Given the description of an element on the screen output the (x, y) to click on. 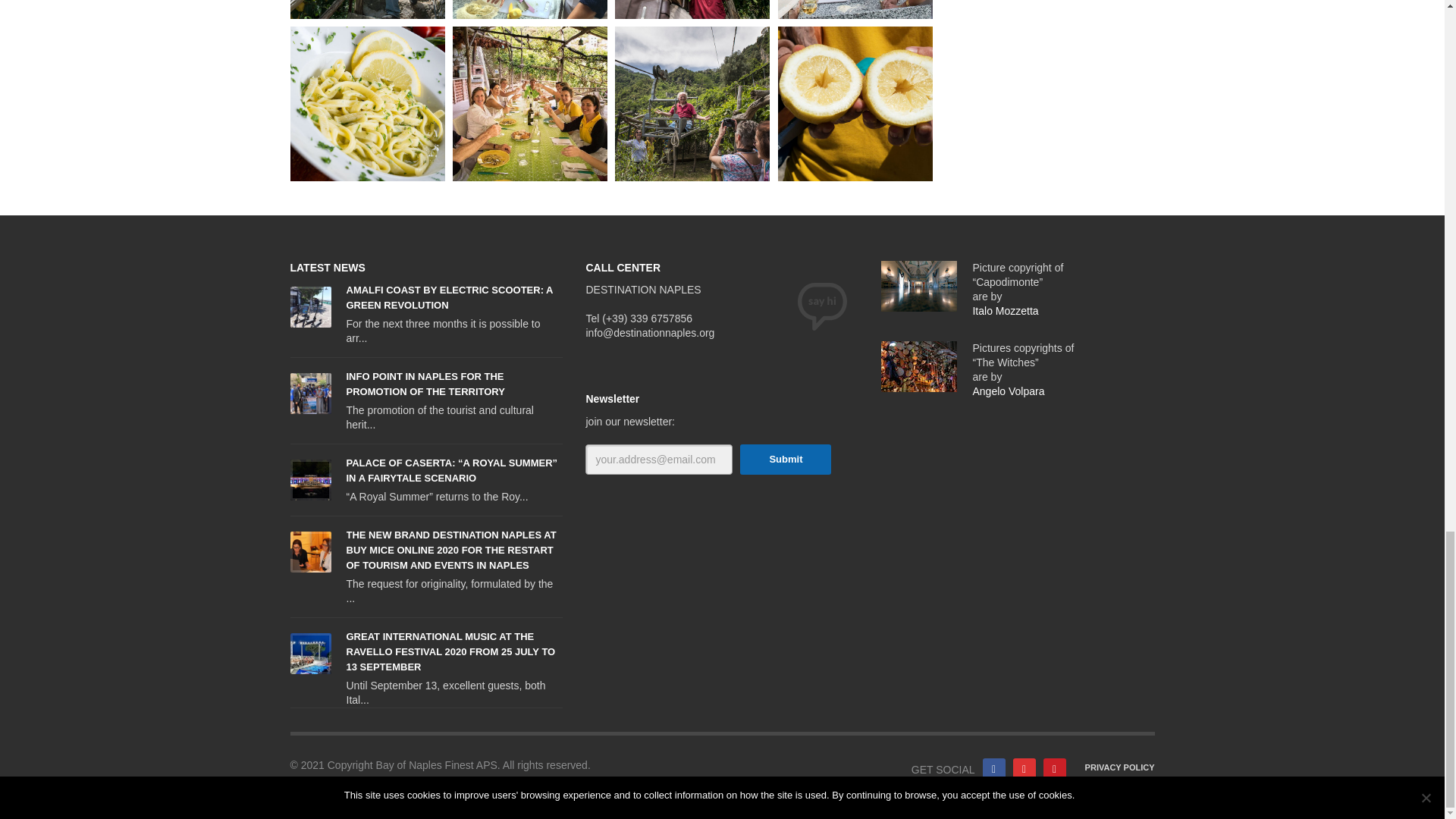
Submit (785, 459)
Cooking-031 (529, 9)
facce-gigino013 (366, 9)
facce-gigino011 (691, 9)
lemon-tour-piatti01406131855 (366, 103)
